Given the description of an element on the screen output the (x, y) to click on. 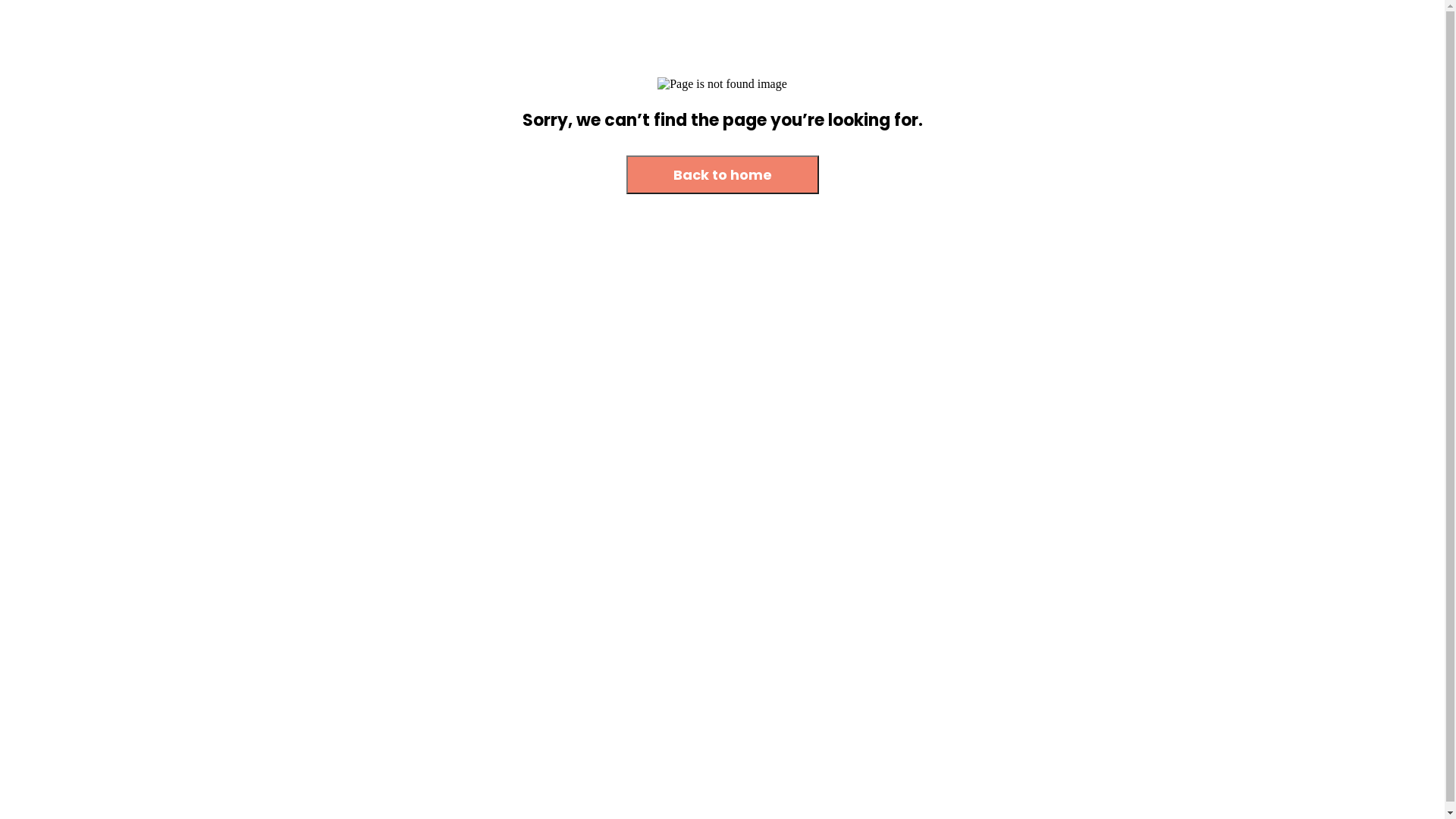
Back to home Element type: text (722, 174)
Back to home Element type: text (722, 175)
